Given the description of an element on the screen output the (x, y) to click on. 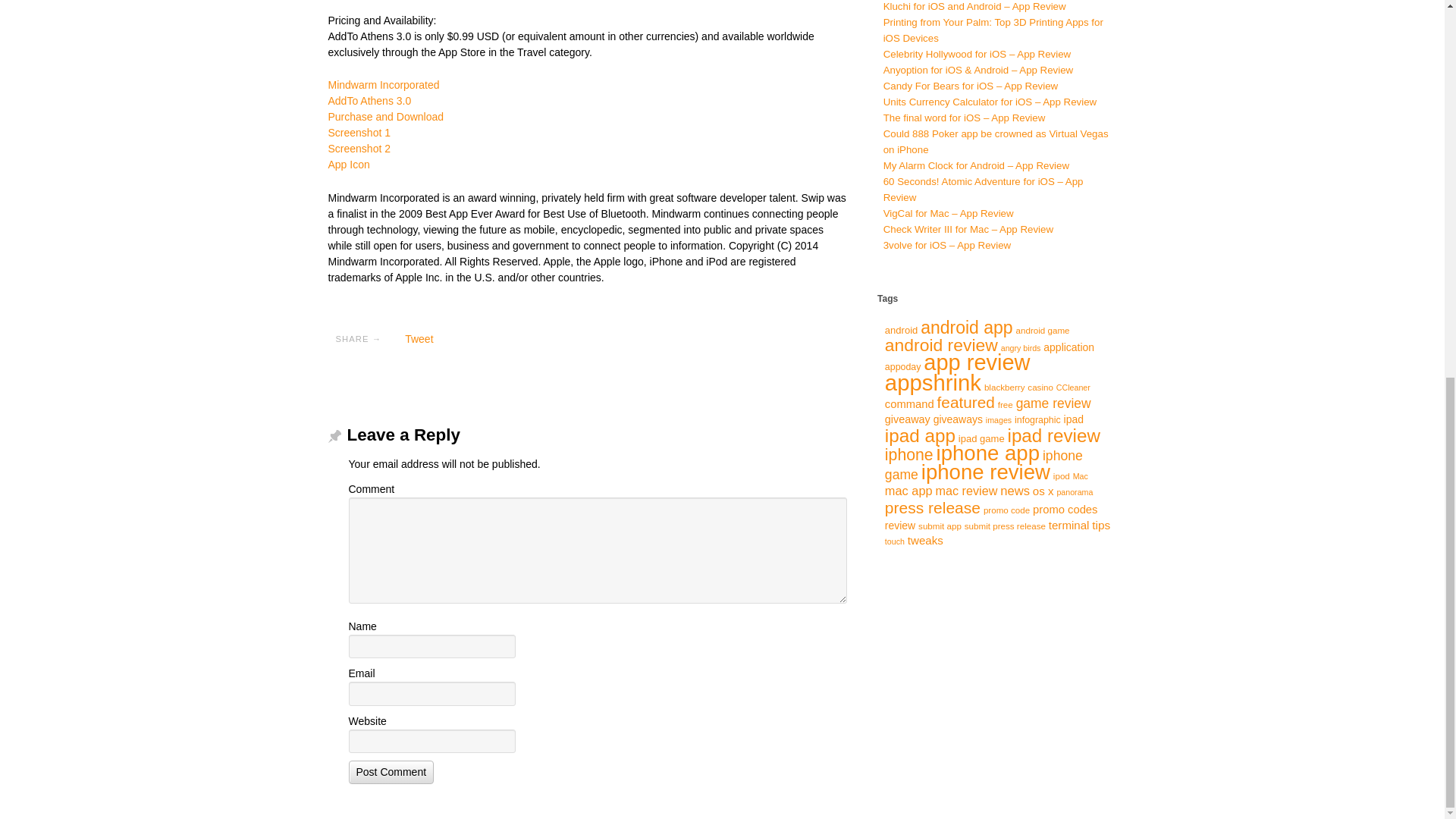
Screenshot 1 (358, 132)
App Icon (348, 164)
Post Comment (391, 771)
AddTo Athens 3.0 (368, 101)
Post Comment (391, 771)
AddTo Athens 3.0 (368, 101)
Screenshot 2 (358, 148)
Tweet (418, 338)
Screenshot 1 (358, 132)
Mindwarm Incorporated (383, 84)
Purchase and Download (385, 116)
Mindwarm Incorporated (383, 84)
Purchase and Download (385, 116)
Screenshot 2 (358, 148)
